Given the description of an element on the screen output the (x, y) to click on. 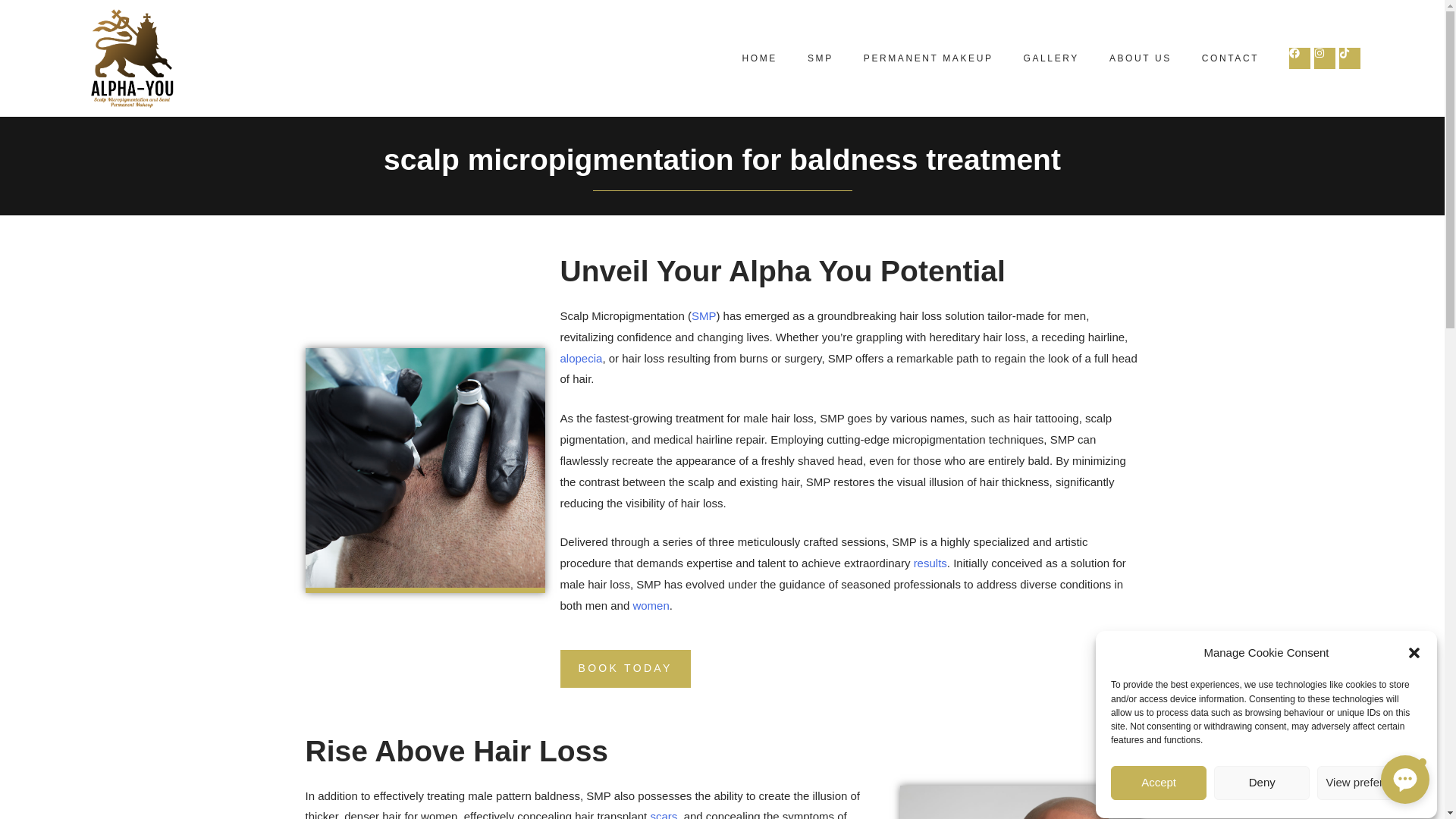
BOOK TODAY (624, 668)
PERMANENT MAKEUP (928, 58)
scars (663, 814)
ABOUT US (1140, 58)
GALLERY (1051, 58)
CONTACT (1230, 58)
SMP (820, 58)
alopecia (580, 358)
women (649, 604)
SMP (703, 315)
